Given the description of an element on the screen output the (x, y) to click on. 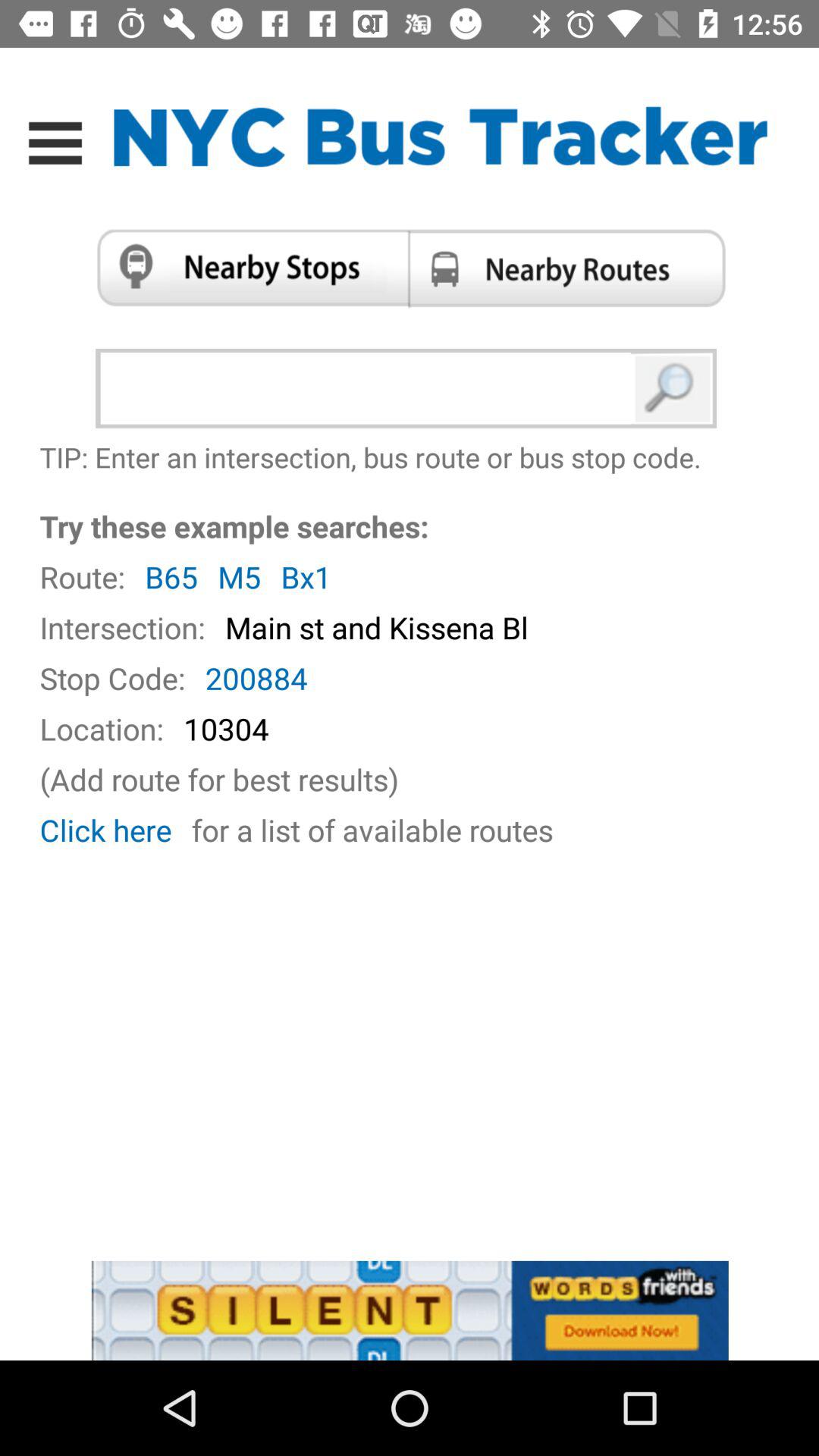
search button (673, 388)
